Given the description of an element on the screen output the (x, y) to click on. 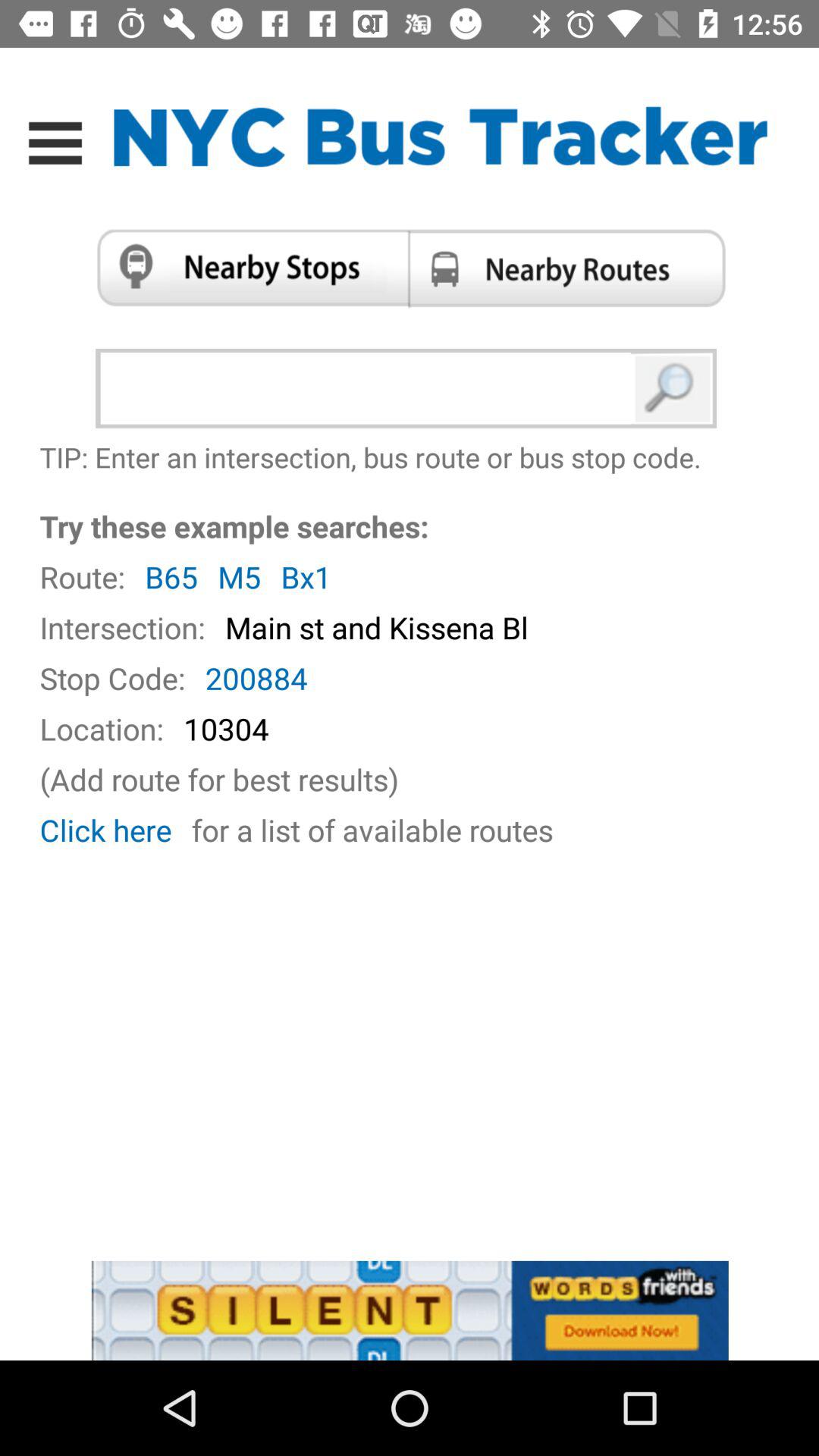
search button (673, 388)
